Given the description of an element on the screen output the (x, y) to click on. 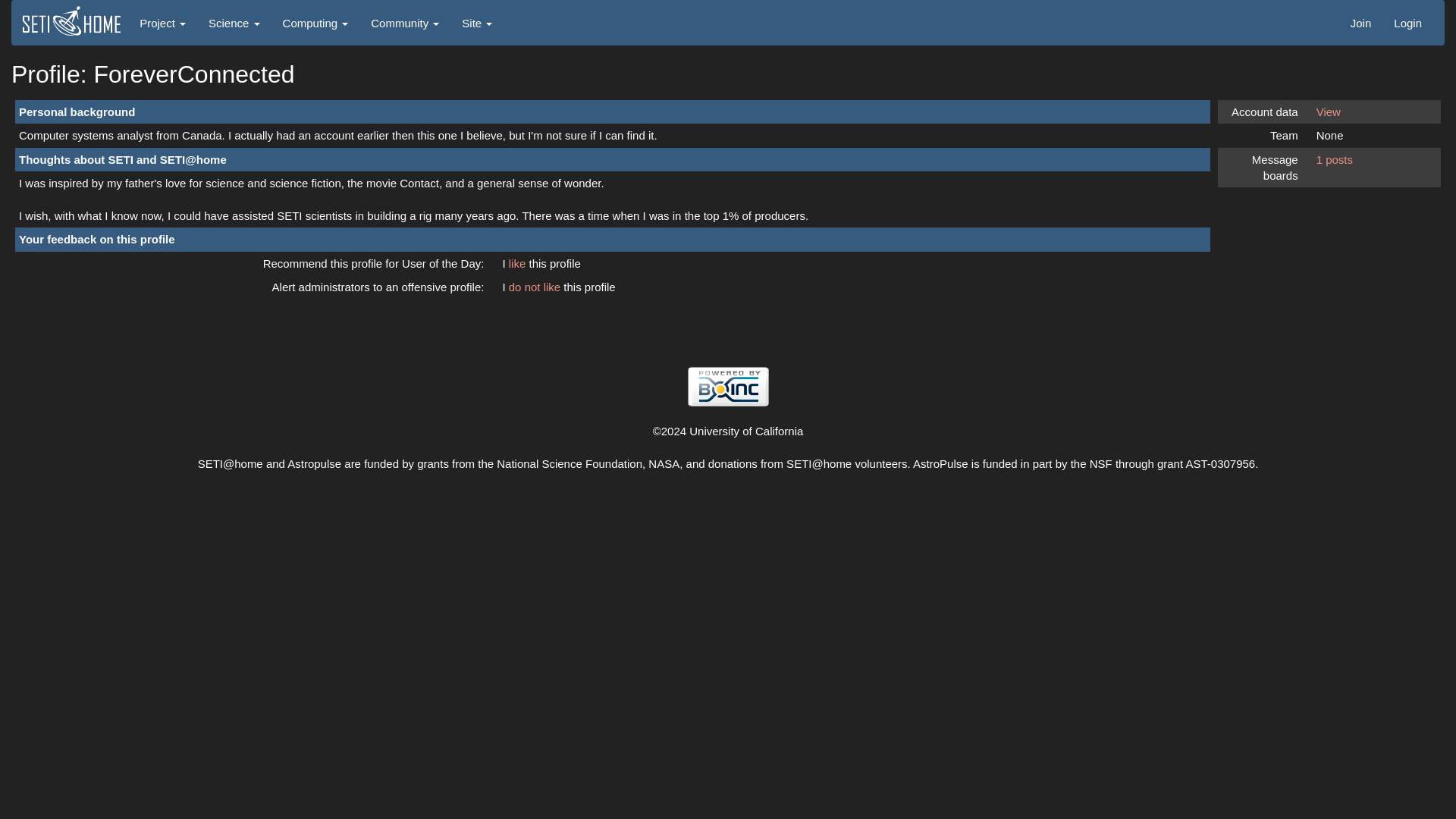
Computing (314, 22)
Community (404, 22)
View (1328, 111)
Join (1361, 22)
like (518, 263)
Login (1406, 22)
Site (476, 22)
Project (162, 22)
Science (233, 22)
1 posts (1334, 159)
